Given the description of an element on the screen output the (x, y) to click on. 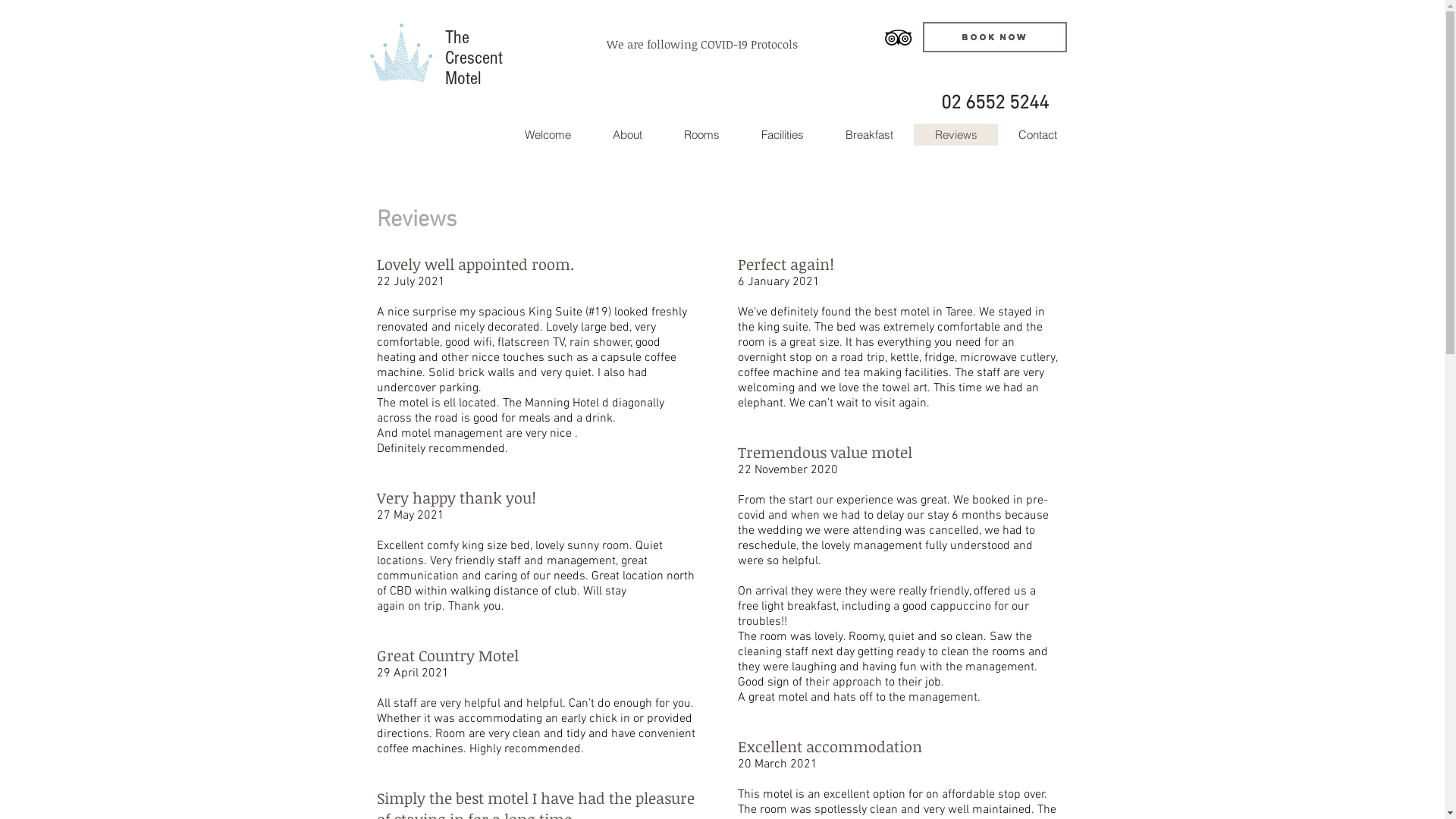
logo light blue.gif Element type: hover (400, 51)
Breakfast Element type: text (868, 133)
Contact Element type: text (1037, 133)
Rooms Element type: text (701, 133)
Reviews Element type: text (955, 133)
Book NOW Element type: text (994, 36)
About Element type: text (626, 133)
Facilities Element type: text (782, 133)
Welcome Element type: text (546, 133)
